Given the description of an element on the screen output the (x, y) to click on. 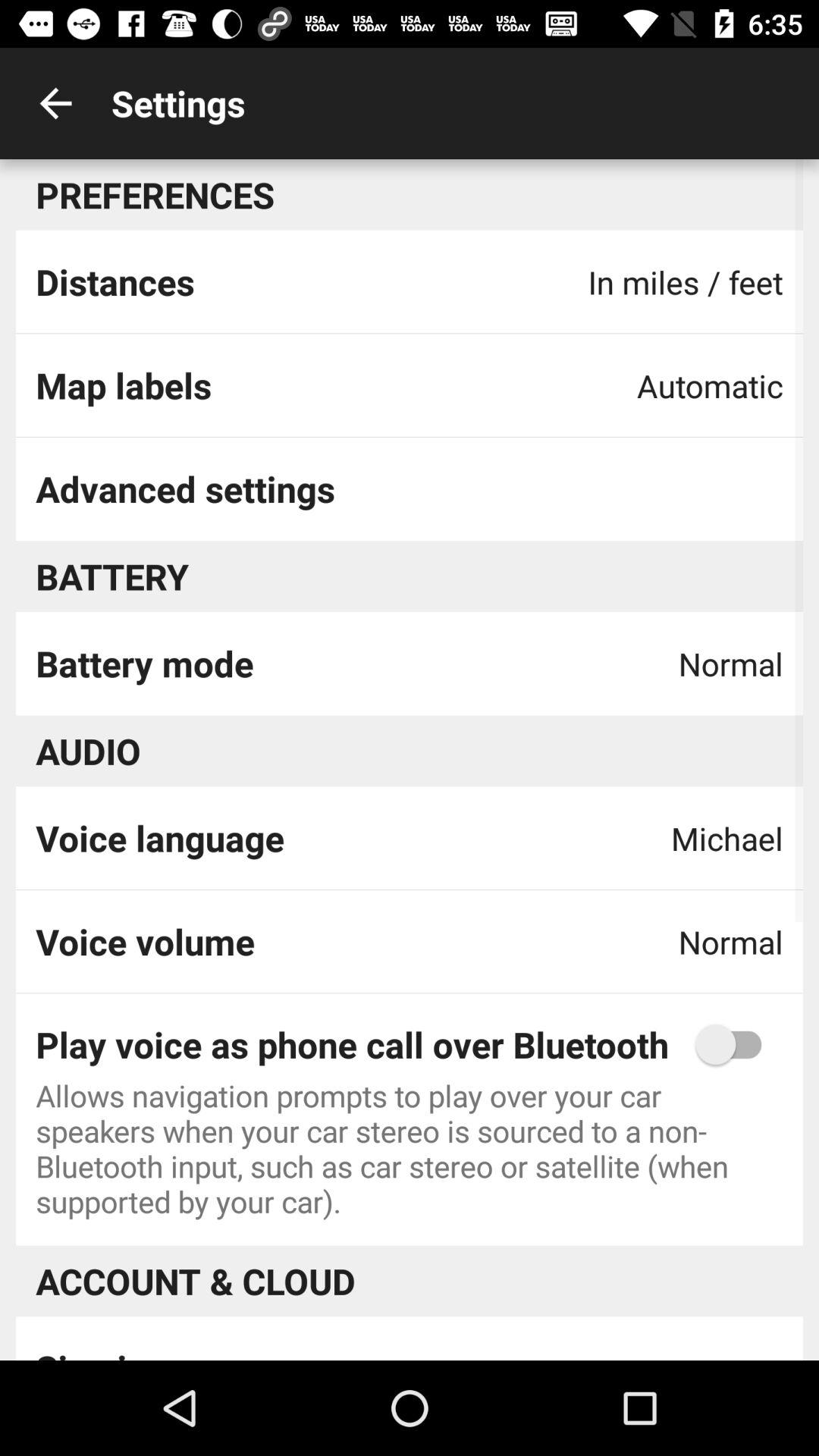
tap the item to the left of the automatic icon (123, 385)
